Given the description of an element on the screen output the (x, y) to click on. 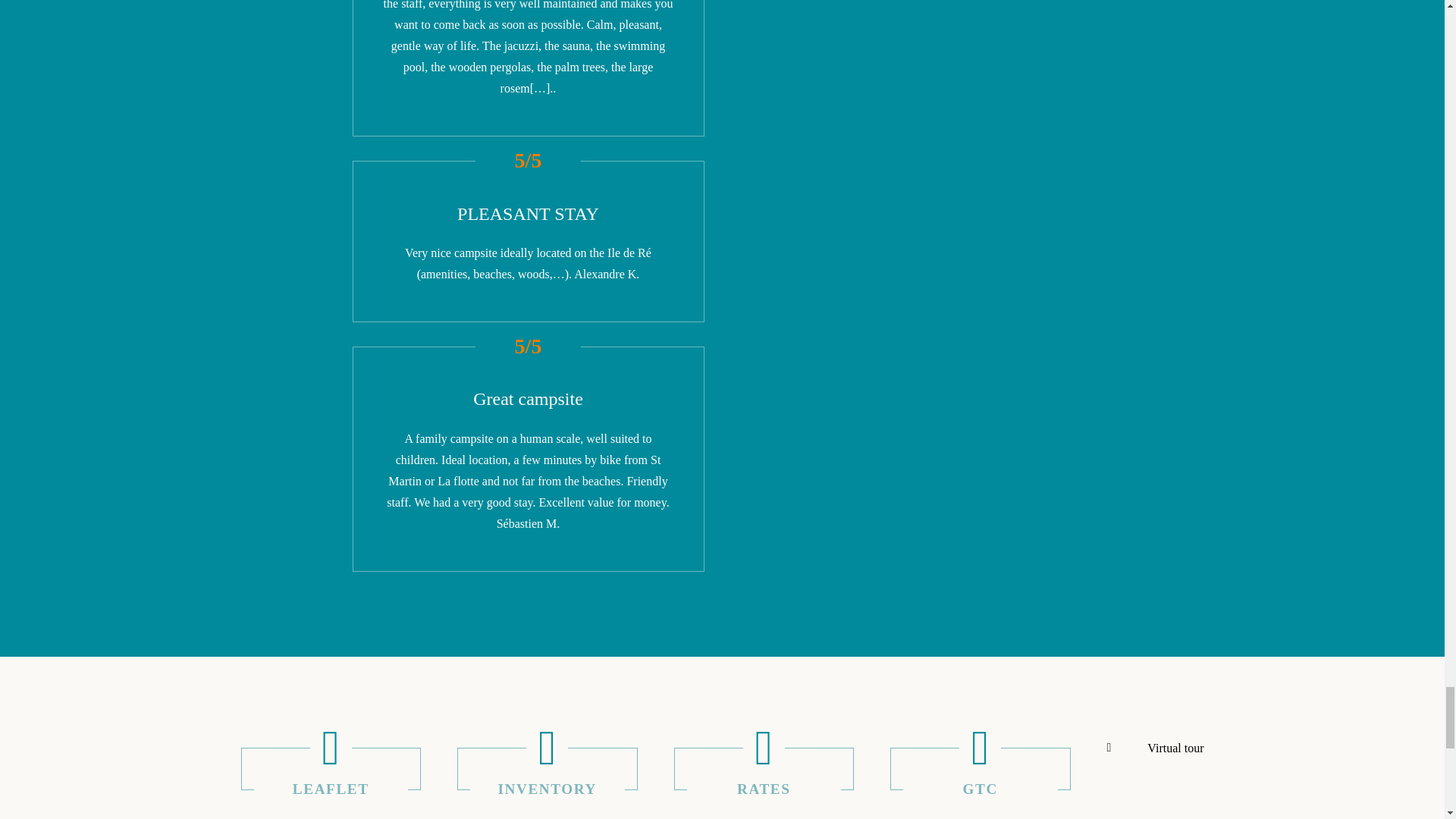
Rates (762, 768)
GTC (979, 768)
Inventory (547, 768)
Brochure (331, 768)
